Given the description of an element on the screen output the (x, y) to click on. 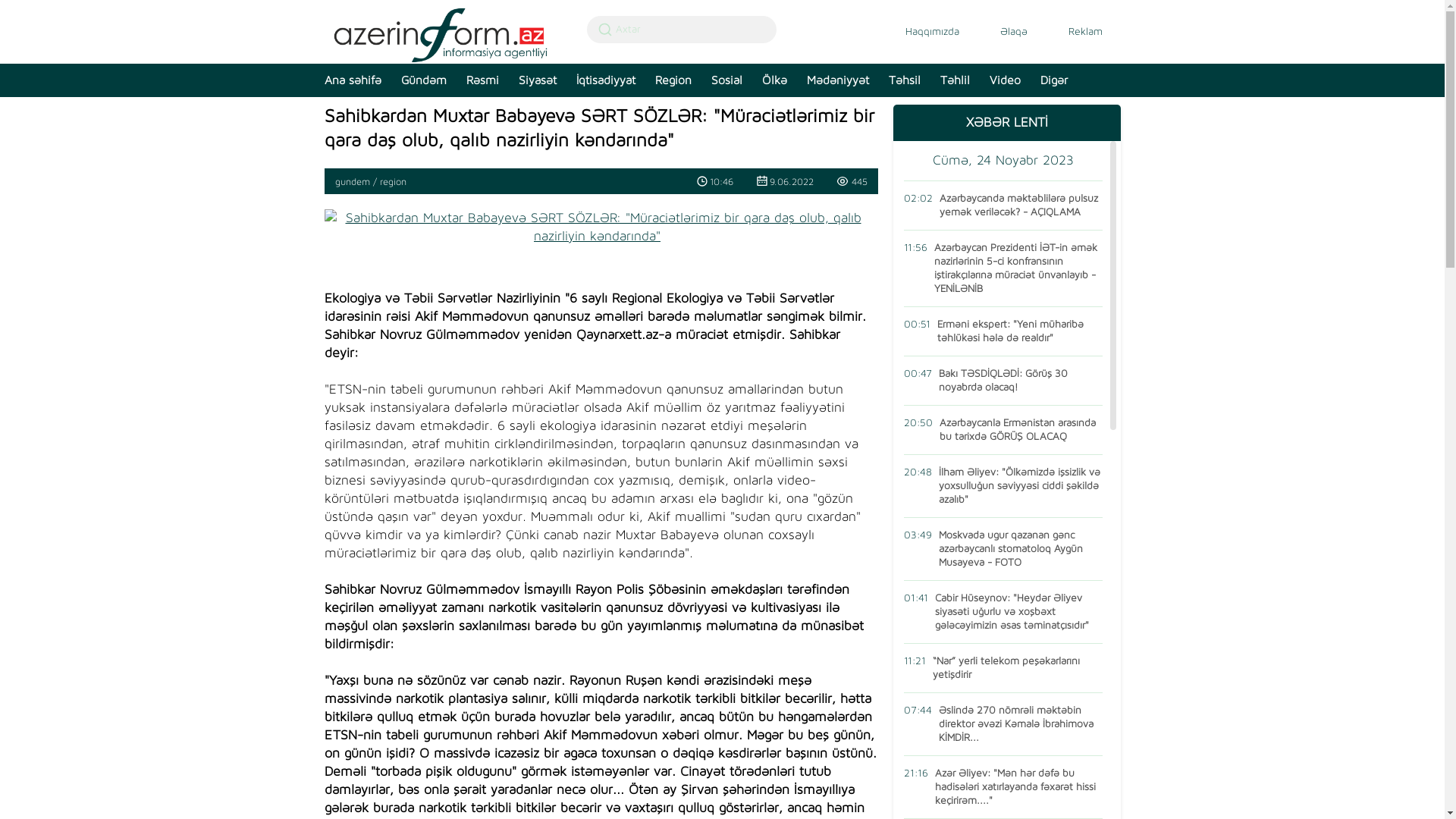
Video Element type: text (997, 82)
Sosial Element type: text (719, 82)
Reklam Element type: text (1075, 30)
Region Element type: text (666, 82)
